Given the description of an element on the screen output the (x, y) to click on. 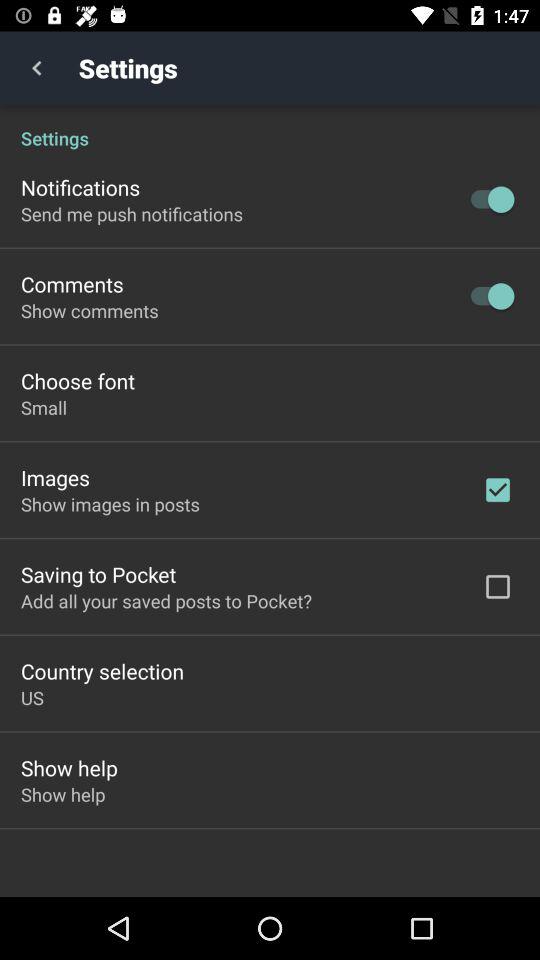
open item below the notifications icon (131, 213)
